Given the description of an element on the screen output the (x, y) to click on. 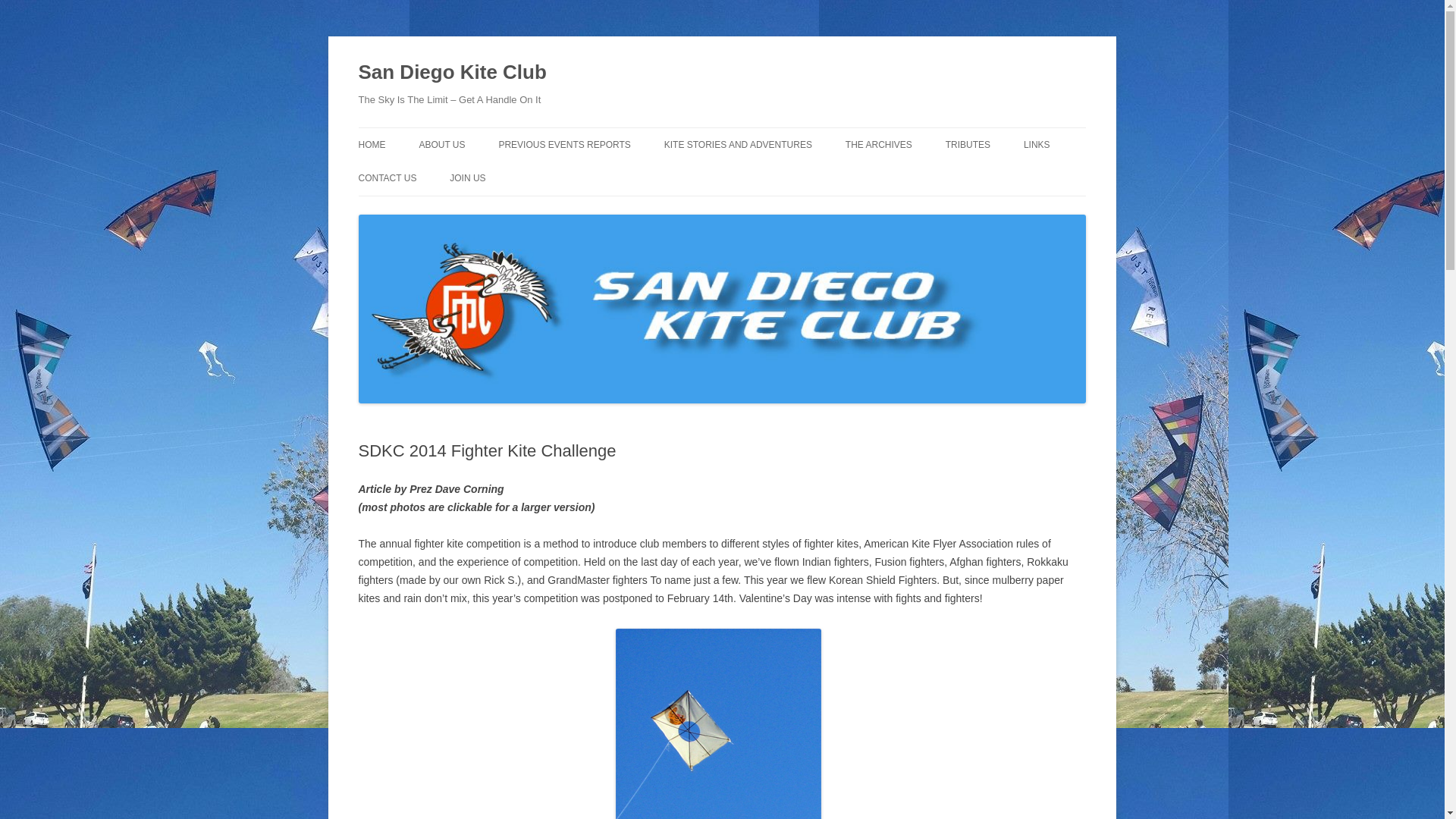
KITE STORIES AND ADVENTURES (737, 144)
ABOUT US (441, 144)
Skip to content (757, 132)
THE ARCHIVES (878, 144)
San Diego Kite Club (452, 72)
Skip to content (757, 132)
PREVIOUS EVENTS REPORTS (563, 144)
JOIN US (466, 177)
CONTACT US (387, 177)
TRIBUTES (967, 144)
